Given the description of an element on the screen output the (x, y) to click on. 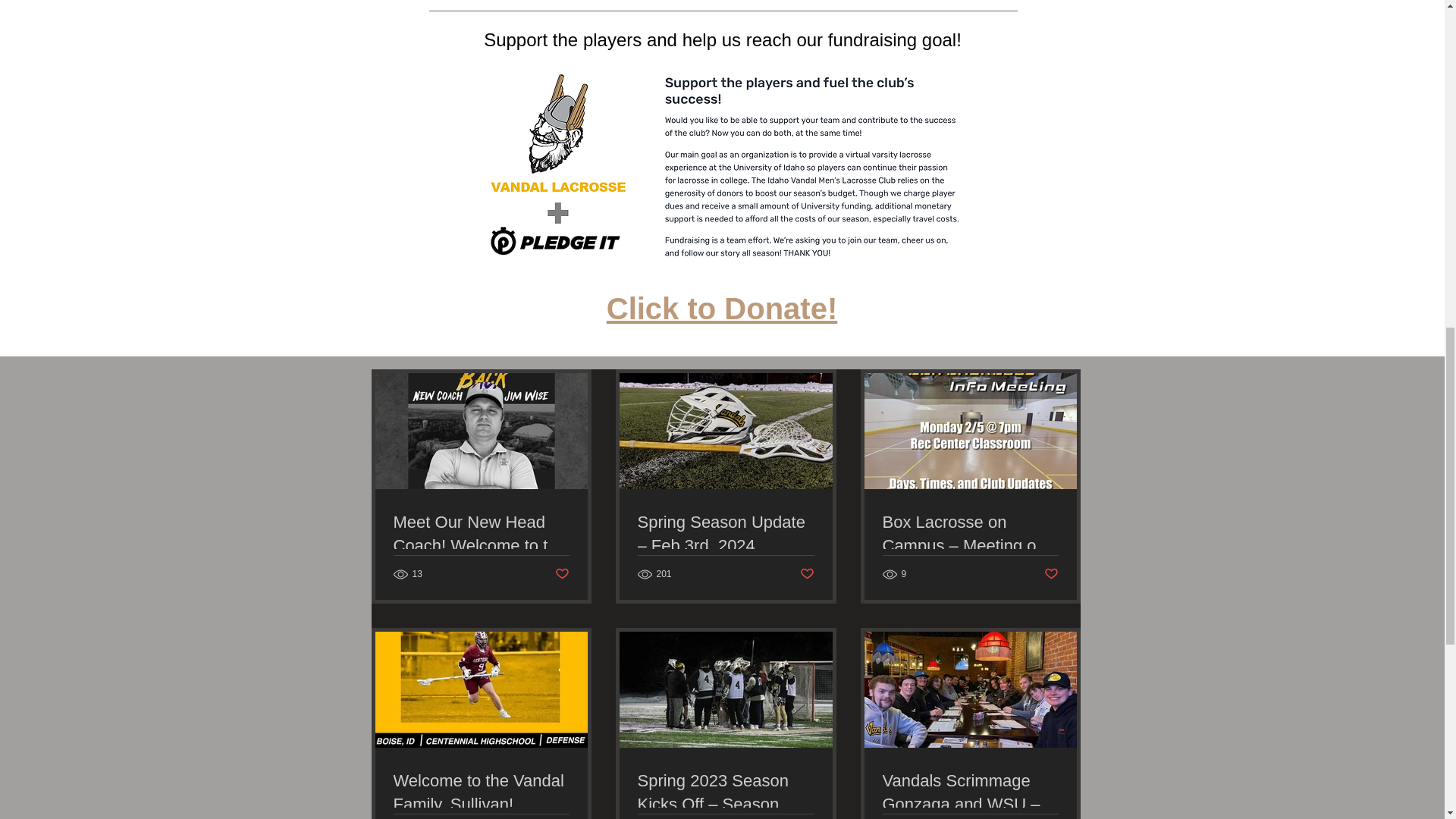
Post not marked as liked (806, 574)
Post not marked as liked (1050, 574)
Welcome to the Vandal Family, Sullivan! (481, 792)
Meet Our New Head Coach! Welcome to the Vandal Family, Jim! (481, 534)
Post not marked as liked (561, 574)
Click to Donate! (722, 308)
